Given the description of an element on the screen output the (x, y) to click on. 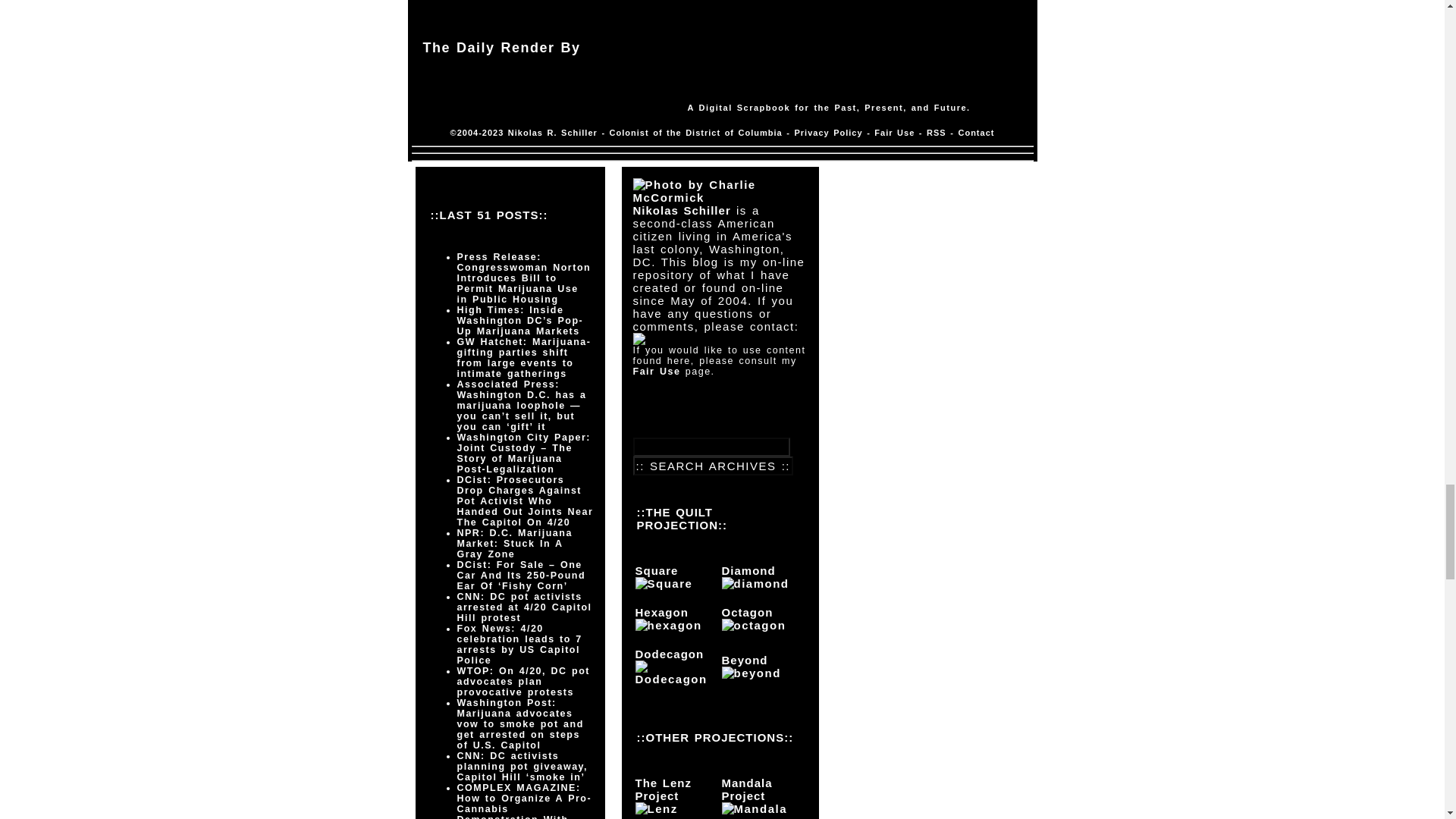
:: SEARCH ARCHIVES :: (712, 465)
Photo by Charlie McCormick (718, 190)
